Given the description of an element on the screen output the (x, y) to click on. 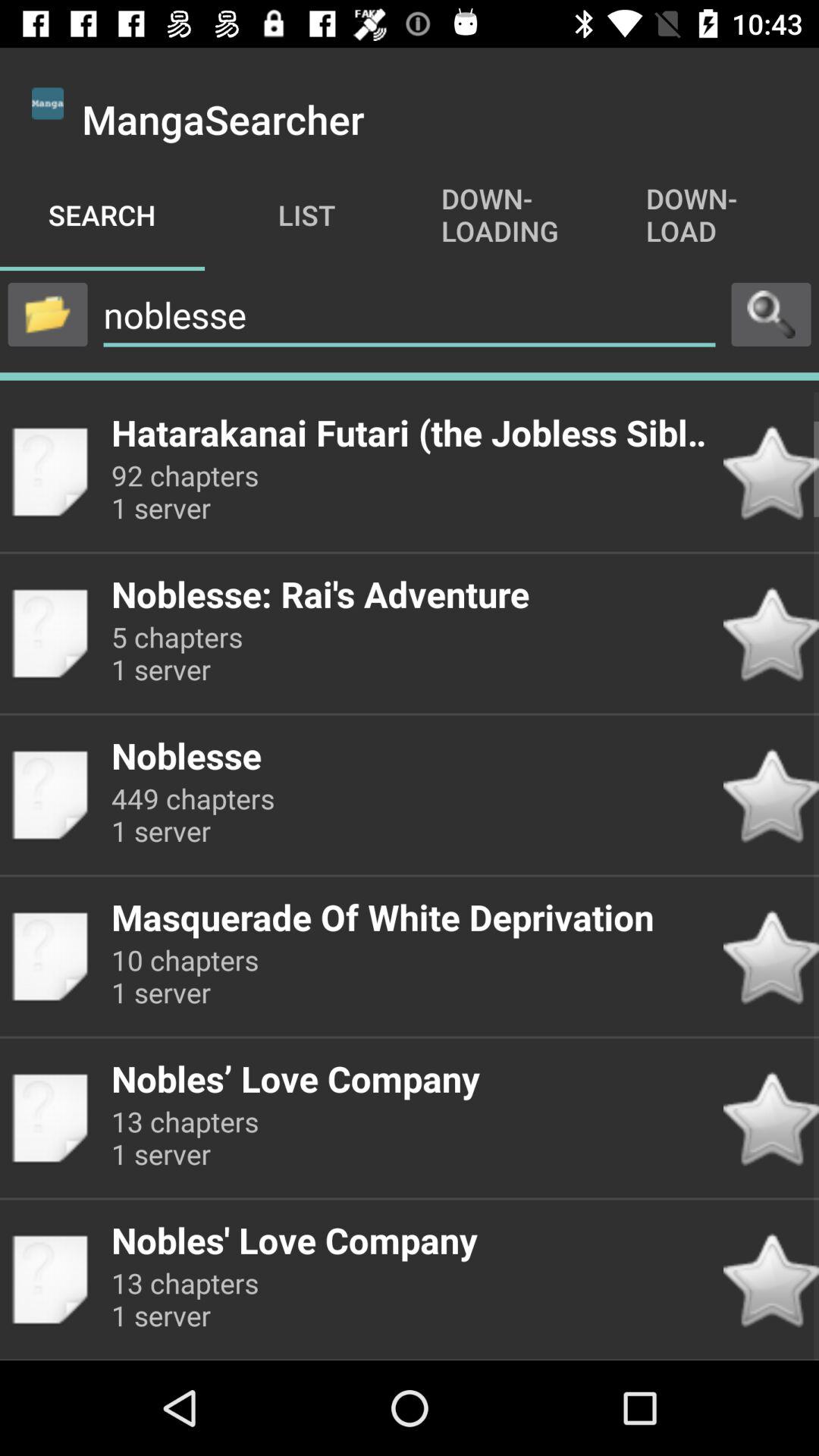
open file menu (47, 314)
